Given the description of an element on the screen output the (x, y) to click on. 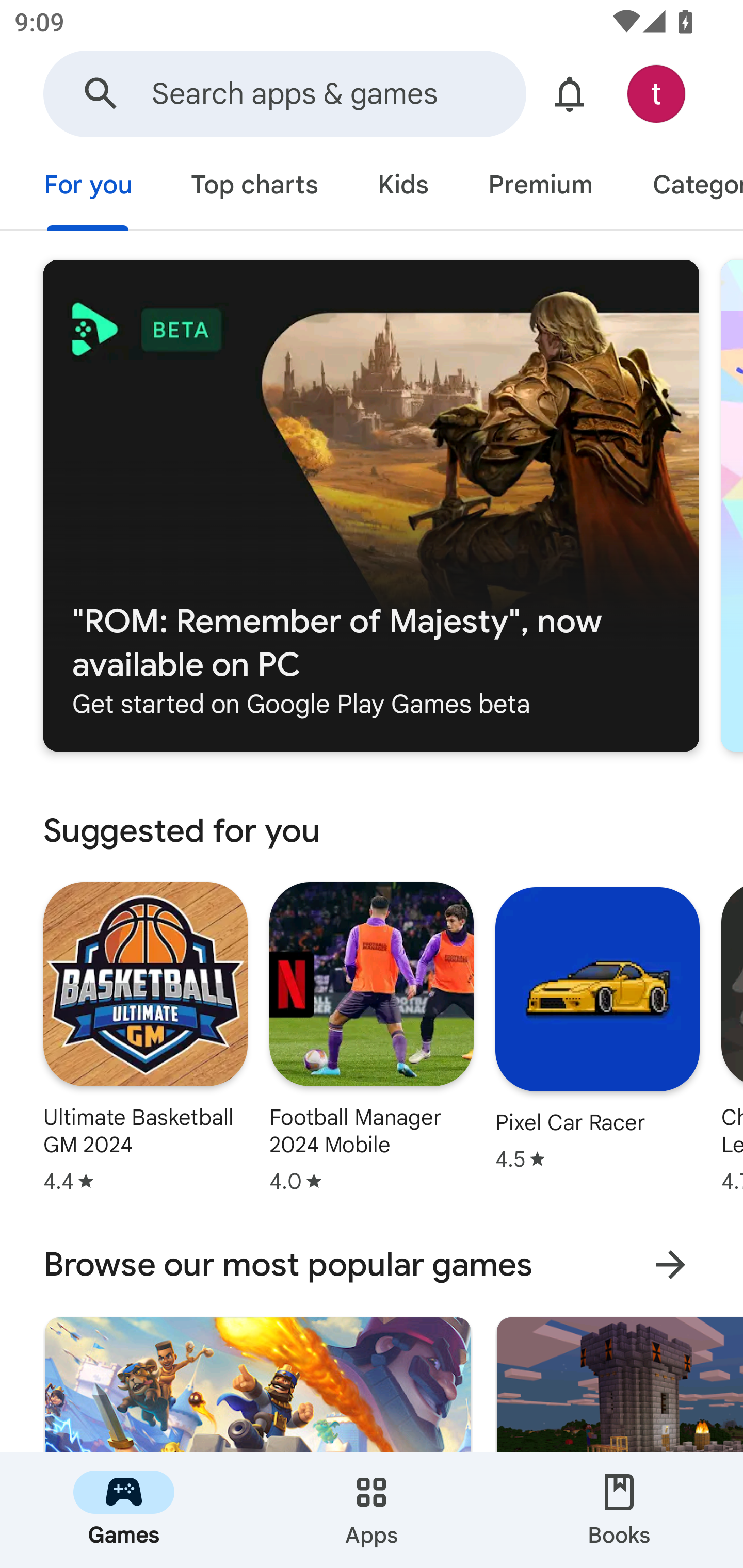
Search Google Play Search apps & games (284, 93)
Search Google Play (100, 93)
Show notifications and offers. (569, 93)
Top charts (254, 187)
Kids (402, 187)
Premium (540, 187)
Categories (682, 187)
Ultimate Basketball GM 2024
Star rating: 4.4
 (145, 1037)
Football Manager 2024 Mobile
Star rating: 4.0
 (371, 1037)
Pixel Car Racer
Star rating: 4.5
 (597, 1028)
More results for Browse our most popular games (670, 1264)
Apps (371, 1509)
Books (619, 1509)
